Given the description of an element on the screen output the (x, y) to click on. 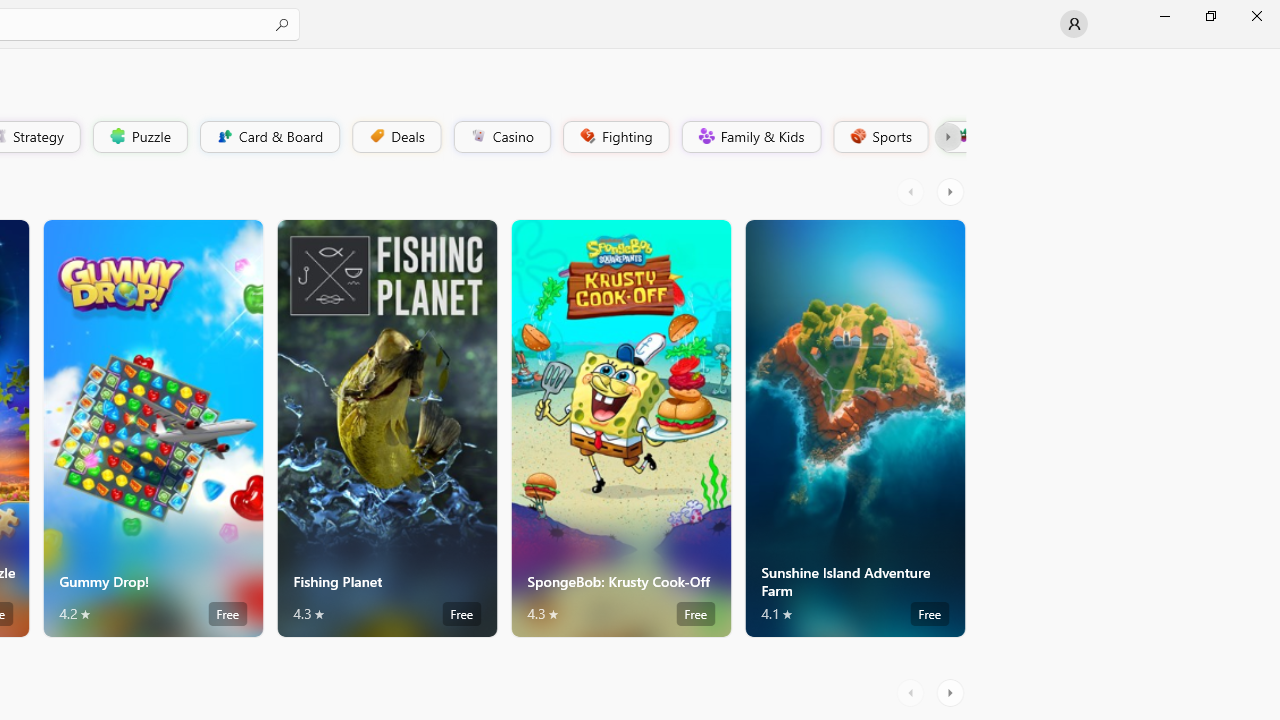
Puzzle (139, 136)
Platformer (952, 136)
Fighting (614, 136)
Class: Button (947, 136)
AutomationID: LeftScrollButton (913, 692)
Casino (501, 136)
Sports (879, 136)
AutomationID: RightScrollButton (952, 692)
Card & Board (268, 136)
Gummy Drop!. Average rating of 4.2 out of five stars. Free   (152, 427)
